Given the description of an element on the screen output the (x, y) to click on. 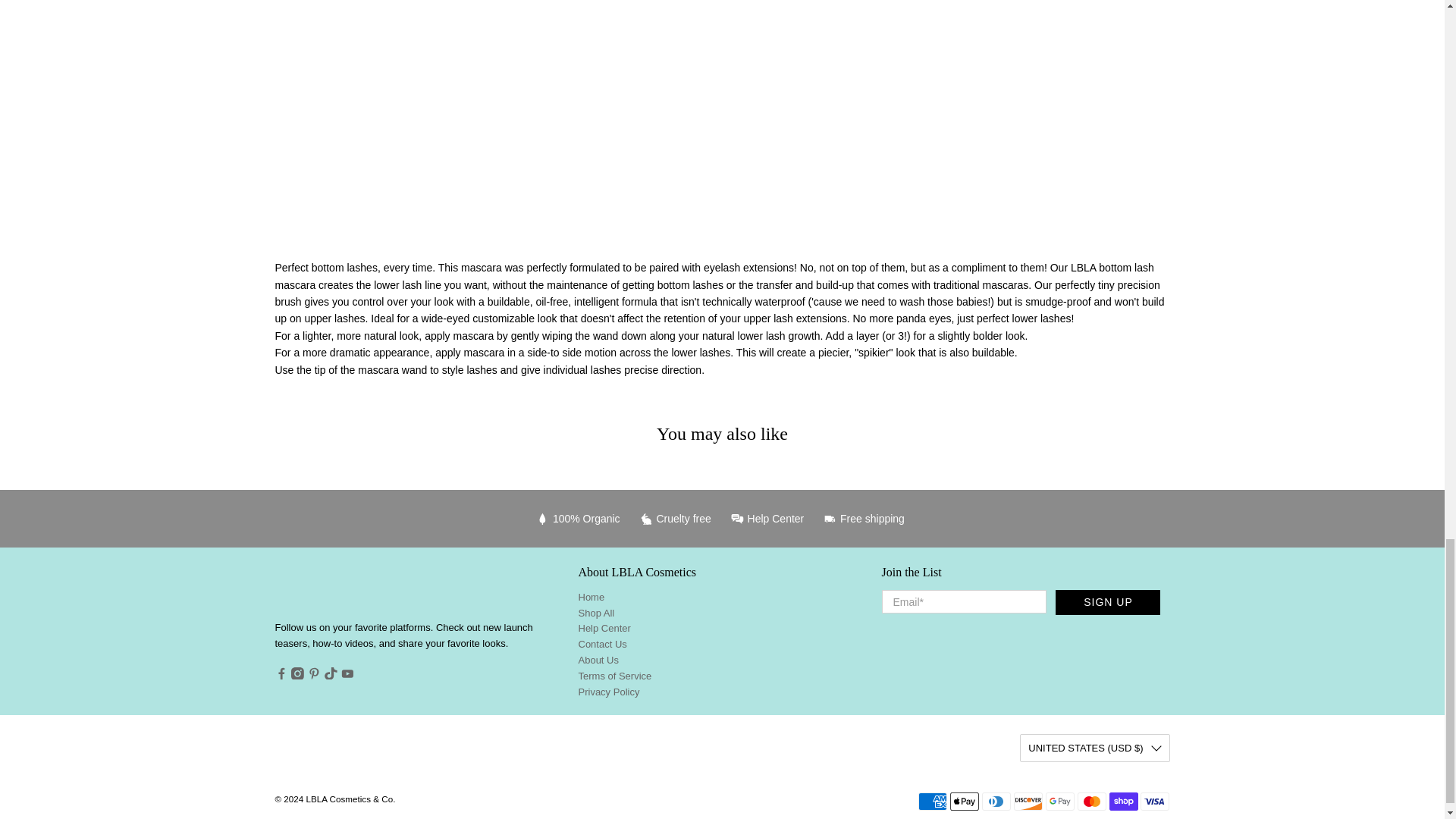
Discover (1027, 801)
Apple Pay (964, 801)
American Express (932, 801)
Diners Club (995, 801)
